Given the description of an element on the screen output the (x, y) to click on. 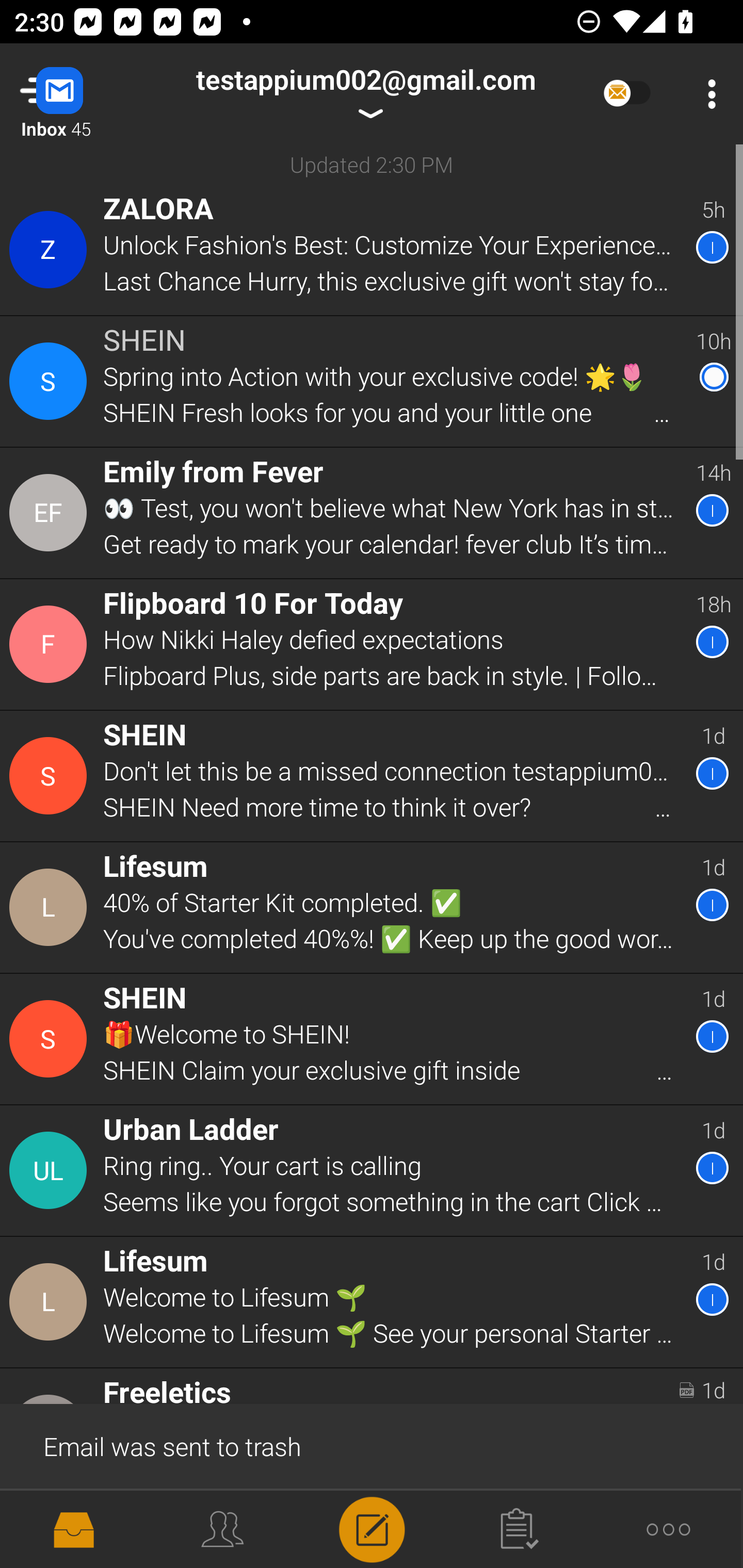
Navigate up (81, 93)
testappium002@gmail.com (365, 93)
More Options (706, 93)
Updated 2:30 PM (371, 164)
Contact Details (50, 250)
Contact Details (50, 381)
Contact Details (50, 513)
Contact Details (50, 644)
Contact Details (50, 776)
Contact Details (50, 907)
Contact Details (50, 1038)
Contact Details (50, 1170)
Contact Details (50, 1302)
Email was sent to trash (371, 1445)
Compose (371, 1528)
